Given the description of an element on the screen output the (x, y) to click on. 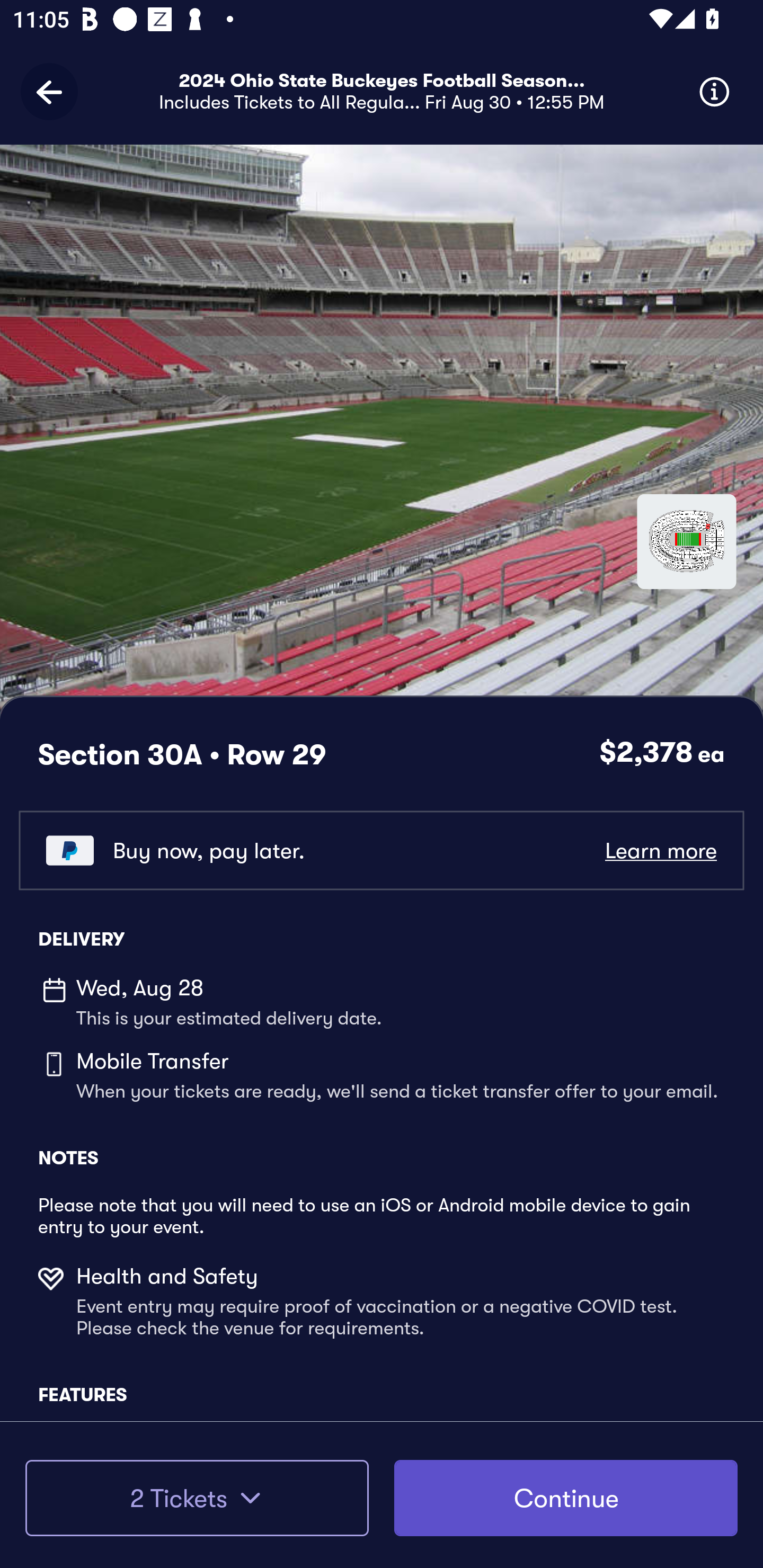
Learn more (660, 850)
2 Tickets (196, 1497)
Continue (565, 1497)
